Given the description of an element on the screen output the (x, y) to click on. 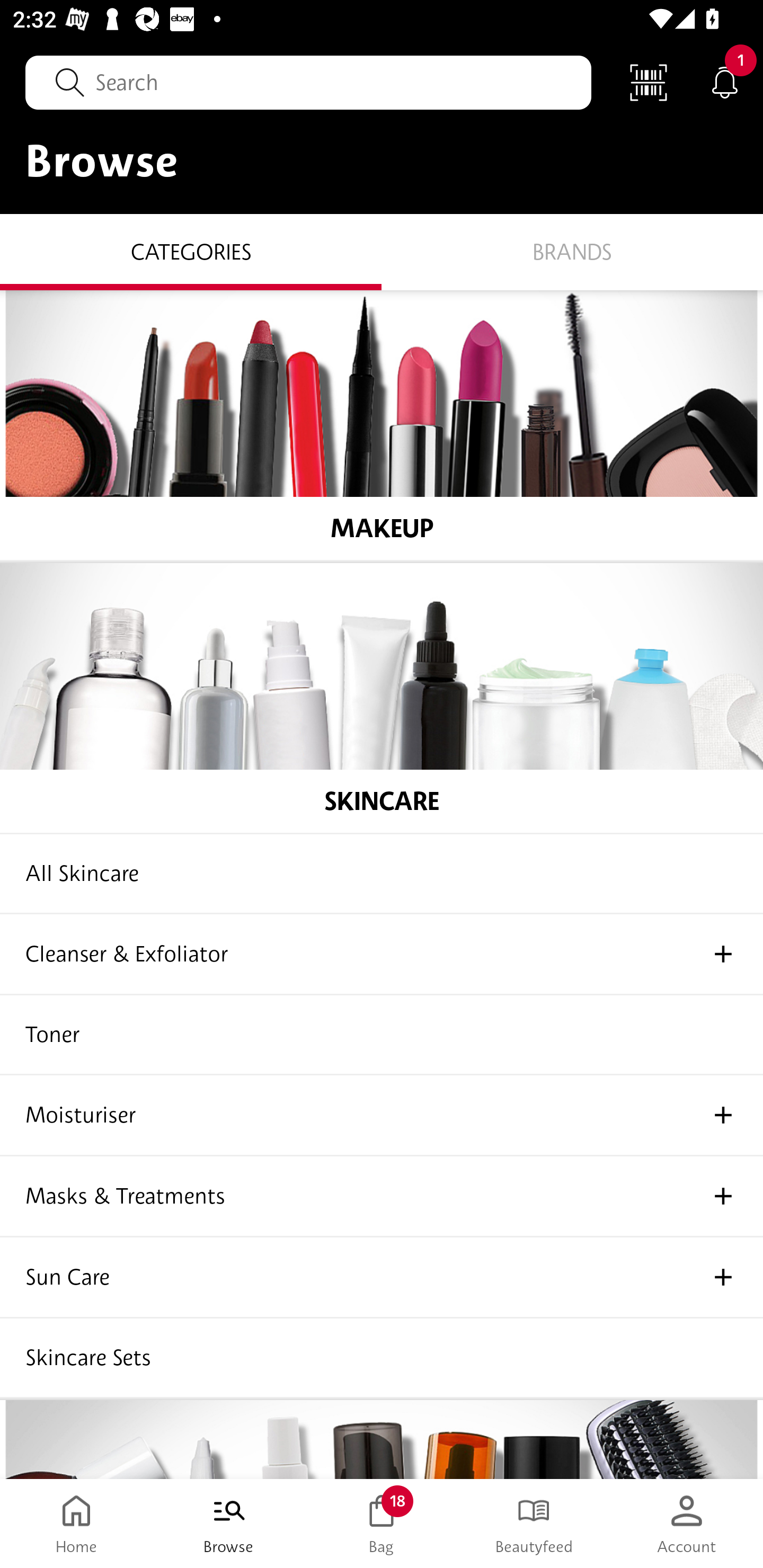
Scan Code (648, 81)
Notifications (724, 81)
Search (308, 81)
Brands BRANDS (572, 251)
MAKEUP (381, 425)
All Skincare (381, 874)
Cleanser & Exfoliator (381, 954)
Toner (381, 1035)
Moisturiser (381, 1116)
Masks & Treatments (381, 1197)
Sun Care (381, 1277)
Skincare Sets (381, 1358)
Home (76, 1523)
Bag 18 Bag (381, 1523)
Beautyfeed (533, 1523)
Account (686, 1523)
